Given the description of an element on the screen output the (x, y) to click on. 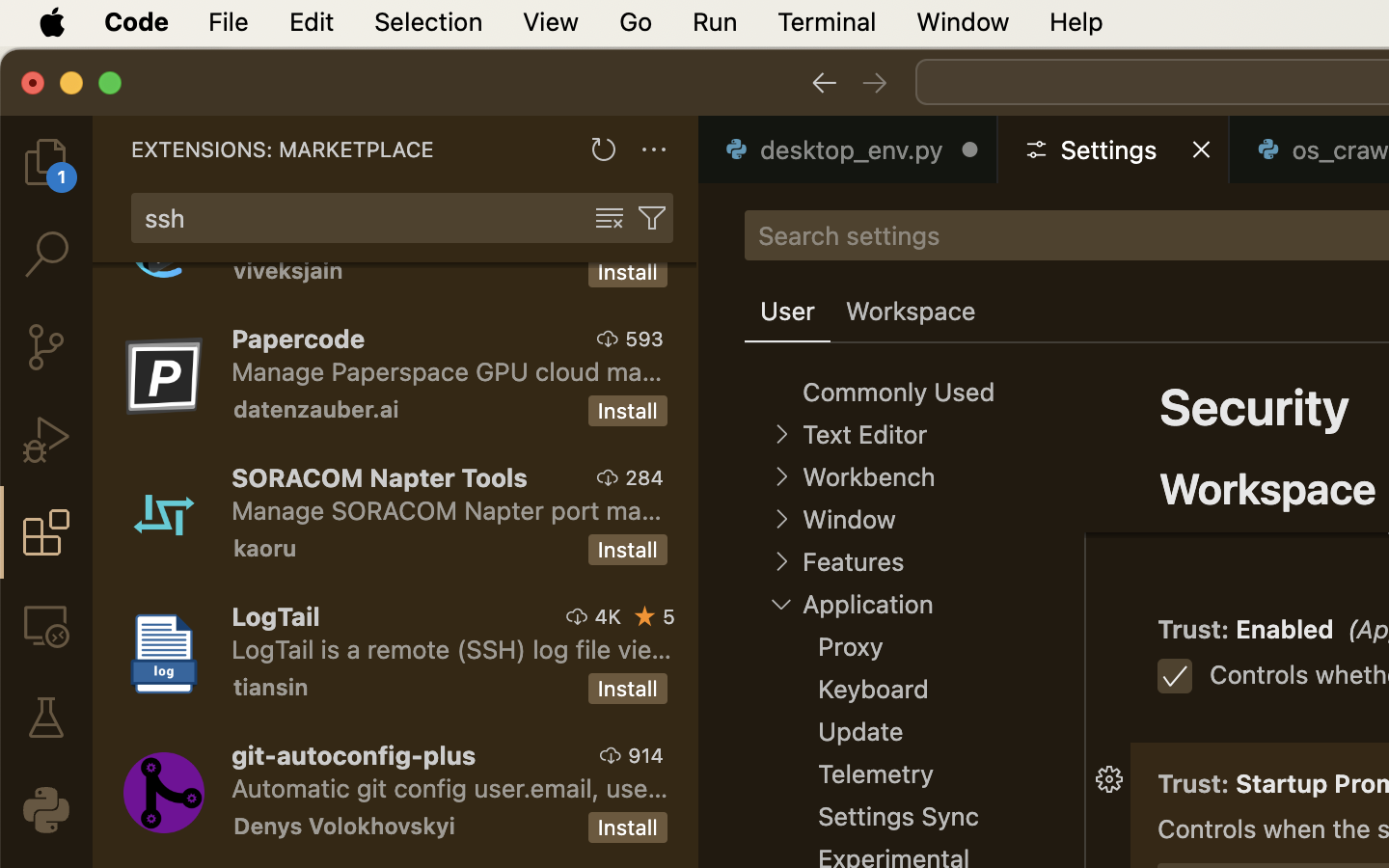
Application Element type: AXStaticText (867, 604)
 Element type: AXStaticText (644, 615)
Window Element type: AXStaticText (849, 519)
kaoru Element type: AXStaticText (265, 547)
0  Element type: AXRadioButton (46, 624)
